Given the description of an element on the screen output the (x, y) to click on. 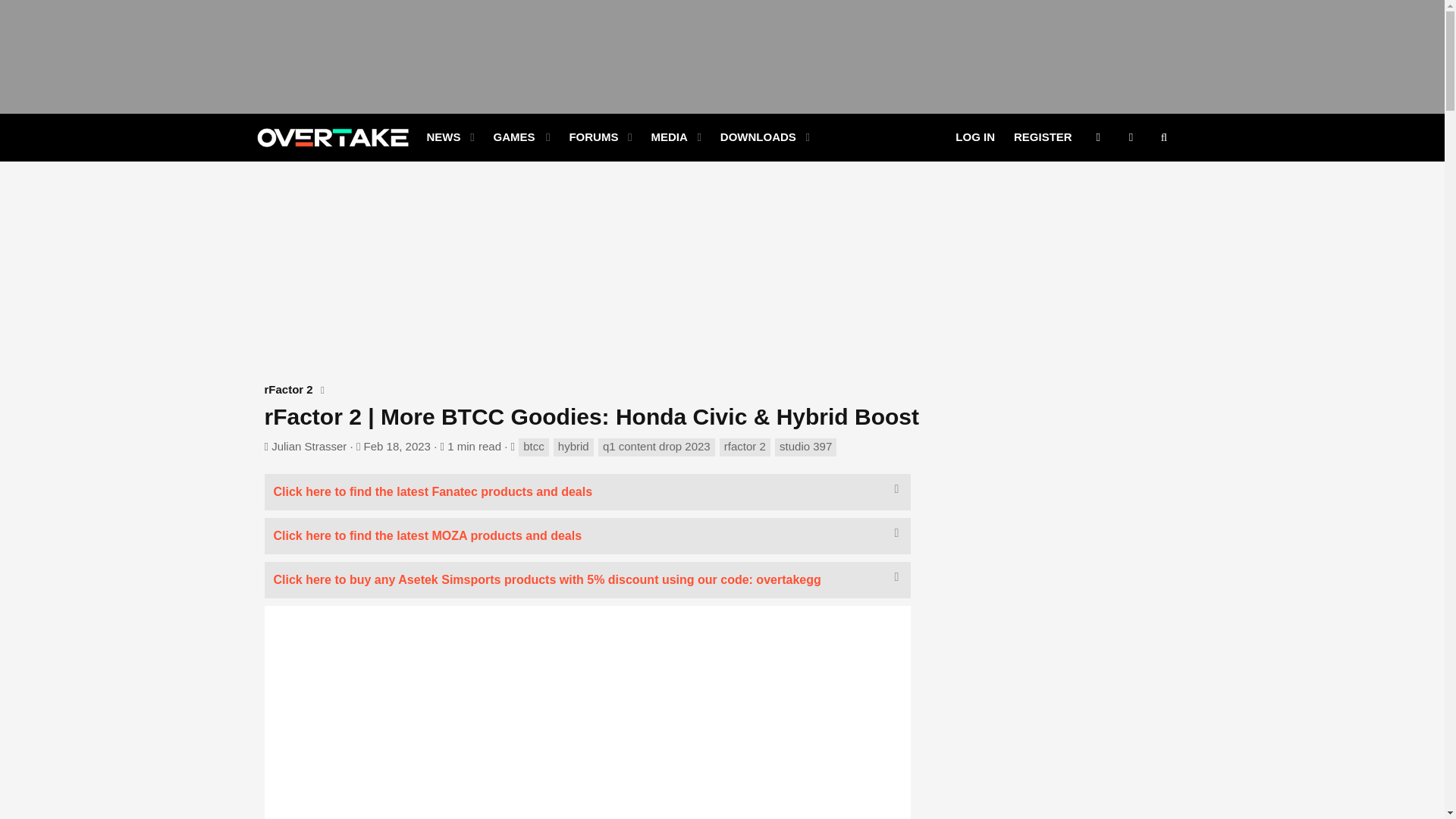
Search (1163, 137)
Feb 18, 2023 at 08:00 (397, 445)
GAMES (616, 137)
NEWS (521, 137)
What's new (437, 137)
FORUMS (1131, 137)
Change Theme (616, 137)
MEDIA (588, 137)
